Given the description of an element on the screen output the (x, y) to click on. 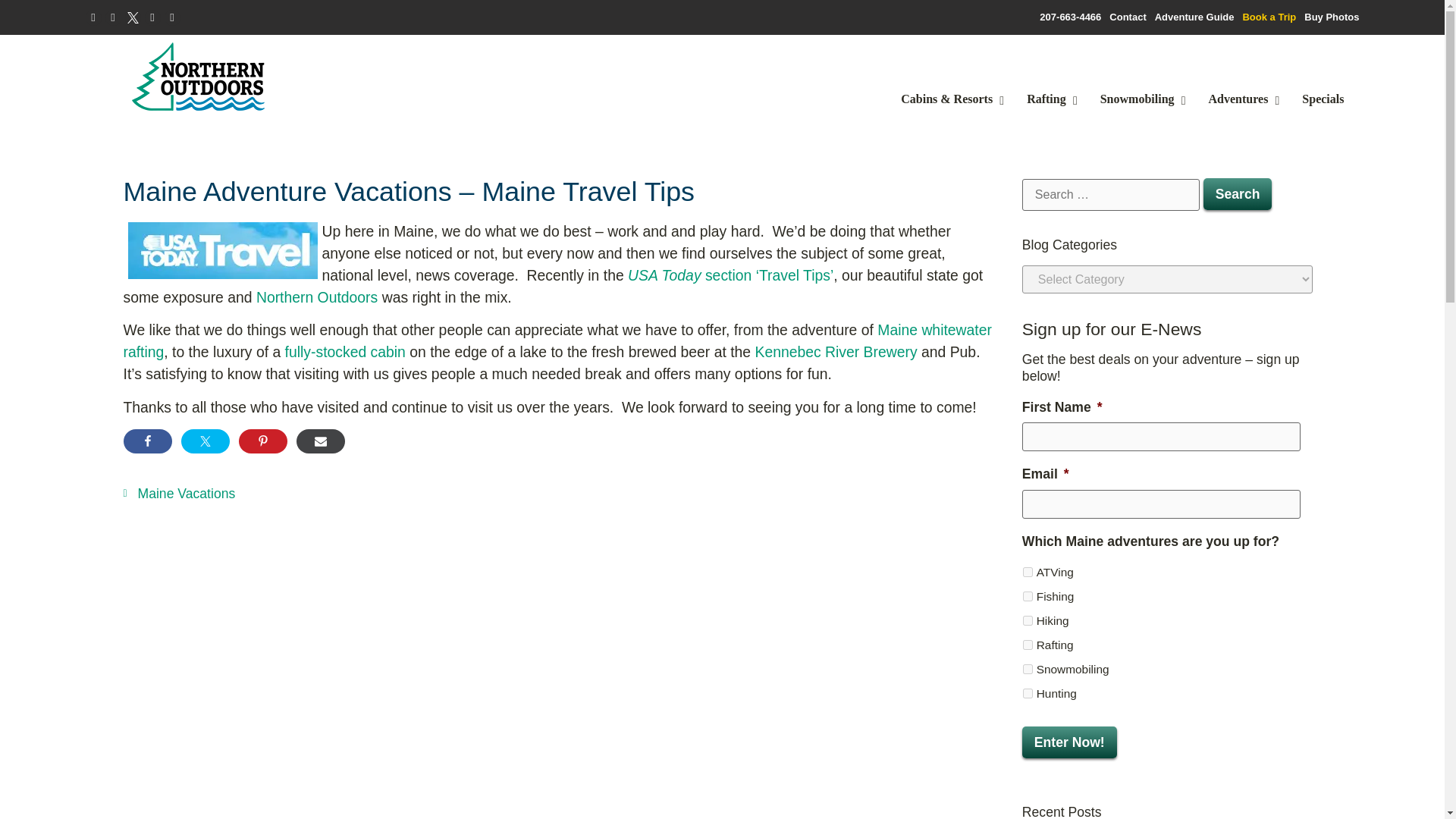
Book a Trip (1268, 17)
Snowmobiling (1027, 669)
Maine Travel Tips form USA Today (222, 249)
Maine Travel Tips USA Today (729, 274)
Buy Photos (1331, 17)
Contact (1127, 17)
Rafting (1027, 644)
Rafting (1047, 99)
Maine White Water Rafting (556, 340)
Fishing (1027, 596)
ATVing (1027, 572)
Hiking (1027, 620)
Adventure Guide (1194, 17)
Search (1238, 193)
Maine Cabin Rentals (345, 351)
